Given the description of an element on the screen output the (x, y) to click on. 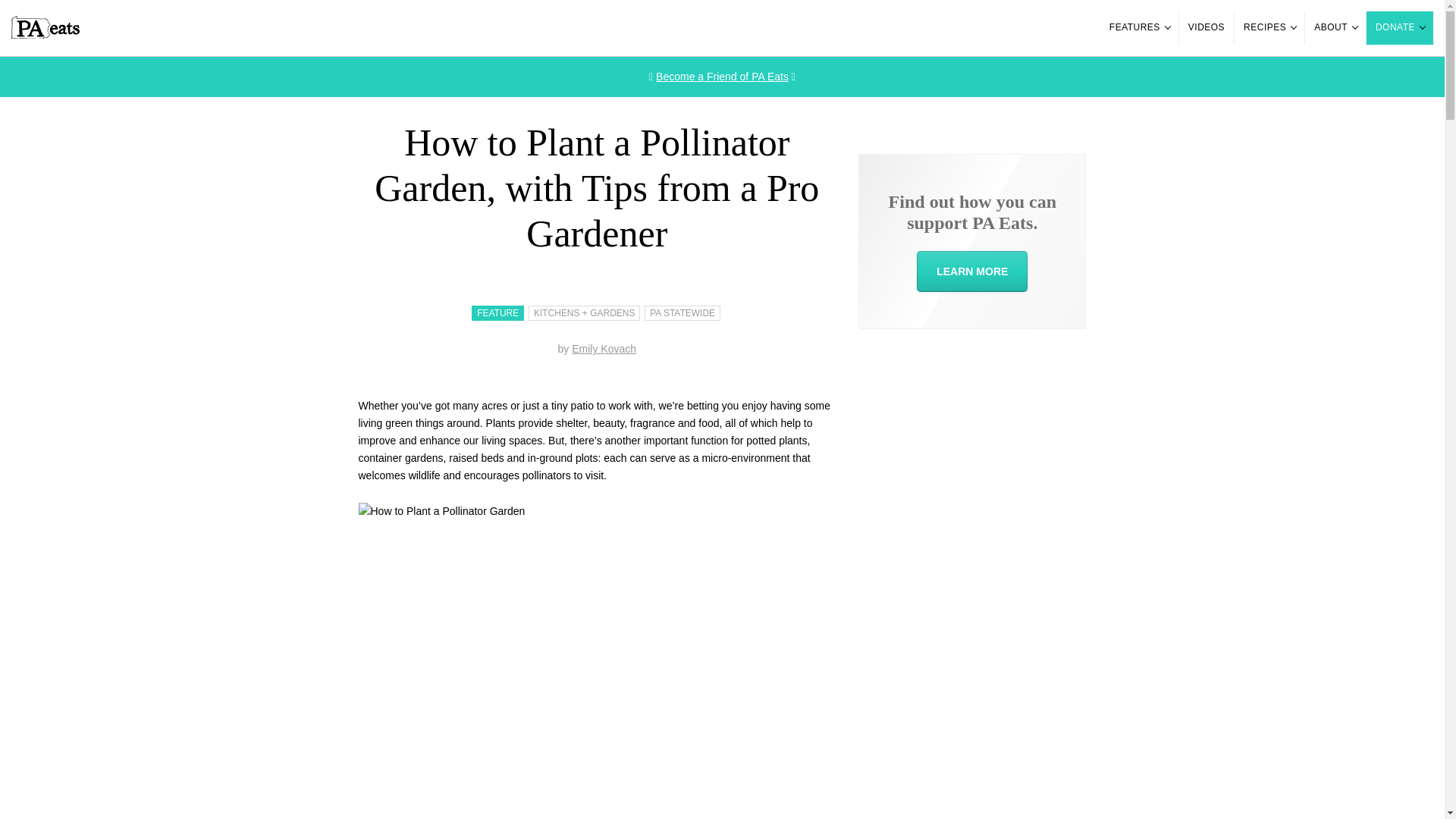
DONATE (1399, 28)
RECIPES (1269, 28)
PA Eats Logo (45, 34)
PA Eats Logo (45, 26)
ABOUT (1334, 28)
FEATURES (1138, 28)
VIDEOS (1206, 28)
